Given the description of an element on the screen output the (x, y) to click on. 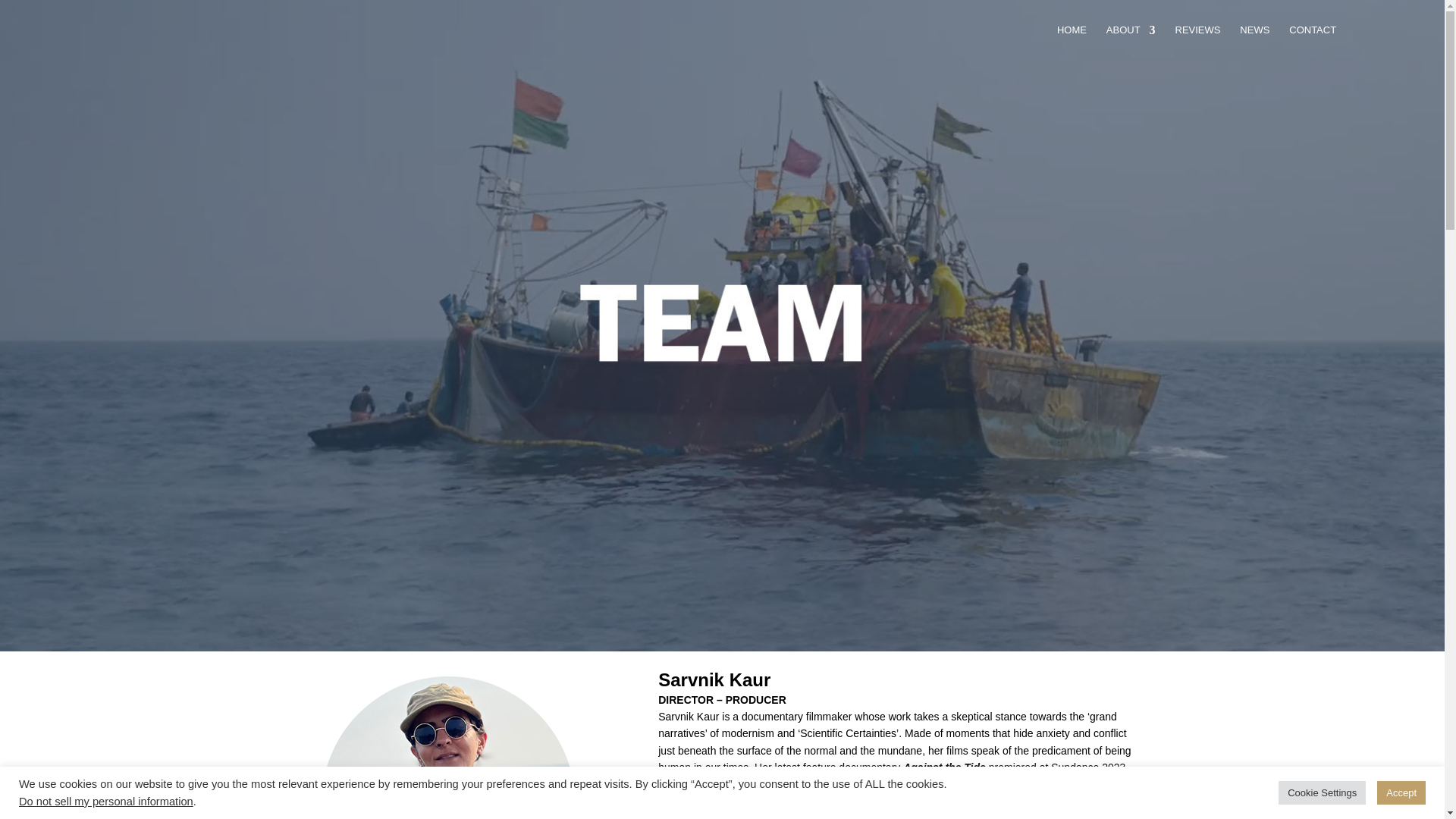
ABOUT (1131, 42)
Accept (1401, 792)
Sarvnik-Kaur (446, 745)
CONTACT (1312, 42)
Do not sell my personal information (105, 801)
REVIEWS (1197, 42)
Cookie Settings (1321, 792)
